Given the description of an element on the screen output the (x, y) to click on. 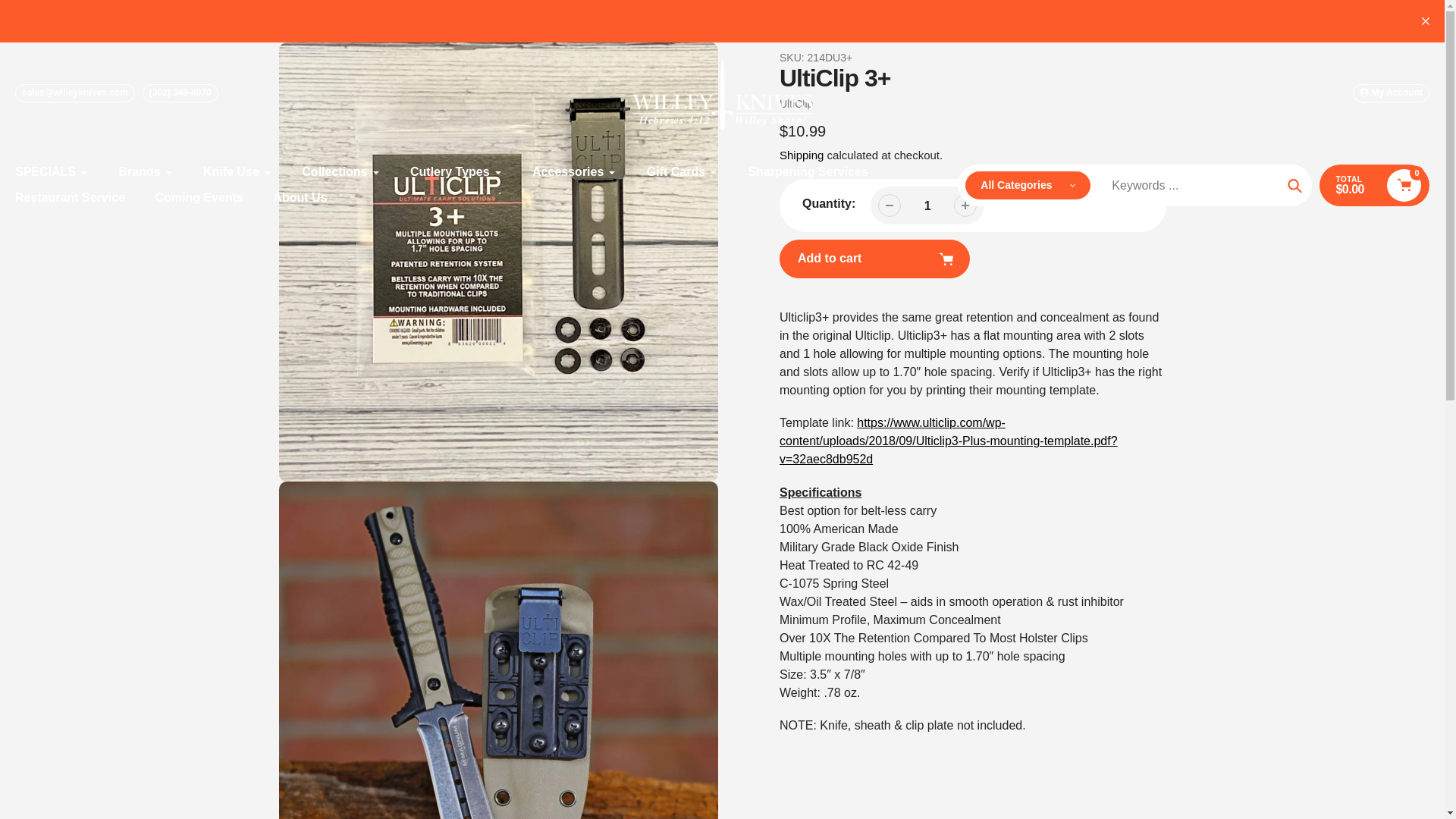
Brands (145, 171)
Template Link (948, 441)
UltiClip (795, 102)
My Account (1390, 93)
1 (927, 205)
SPECIALS (51, 171)
